Given the description of an element on the screen output the (x, y) to click on. 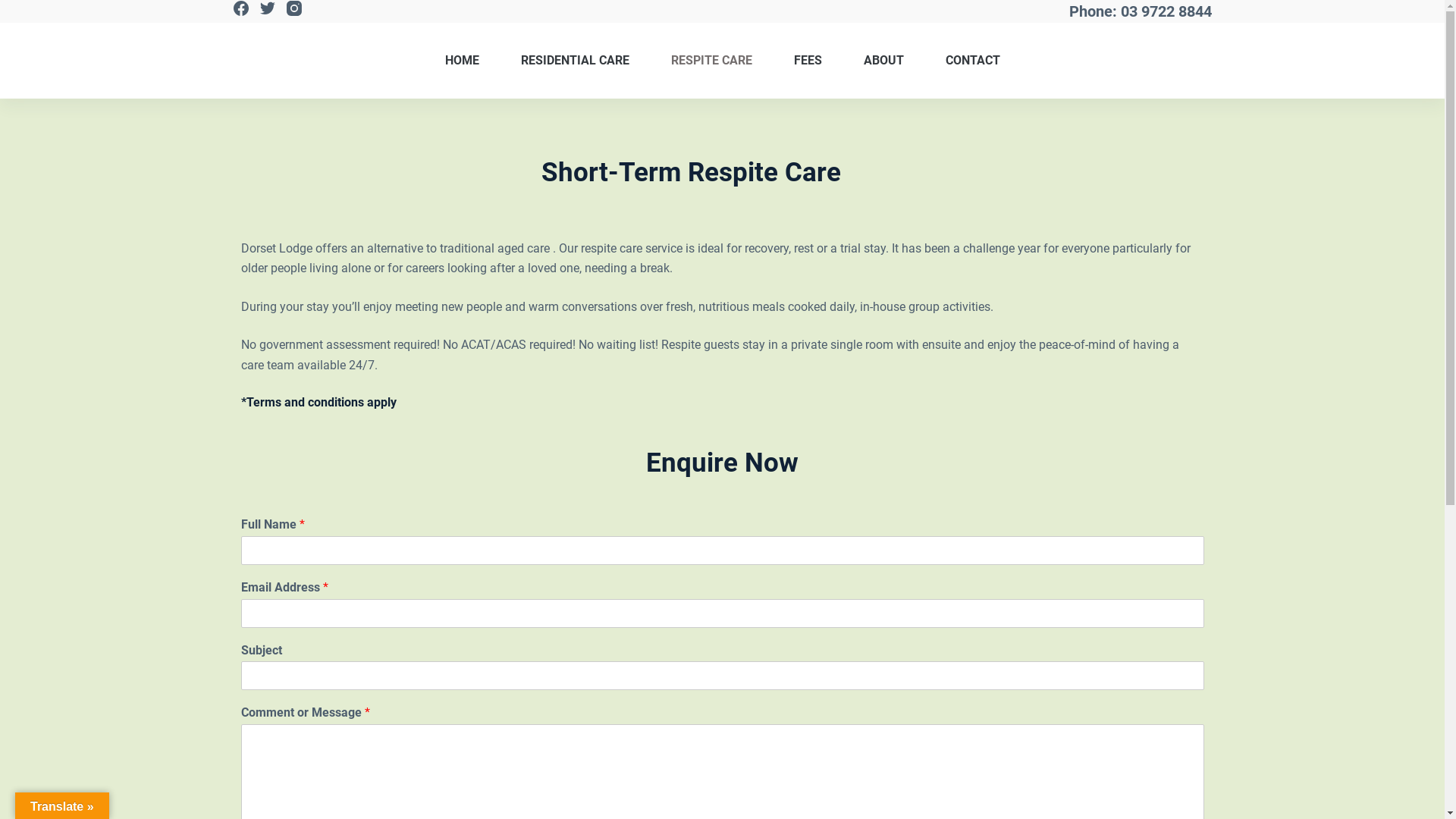
CONTACT Element type: text (962, 60)
HOME Element type: text (471, 60)
RESPITE CARE Element type: text (710, 60)
ABOUT Element type: text (883, 60)
RESIDENTIAL CARE Element type: text (574, 60)
Skip to content Element type: text (15, 7)
FEES Element type: text (807, 60)
